Given the description of an element on the screen output the (x, y) to click on. 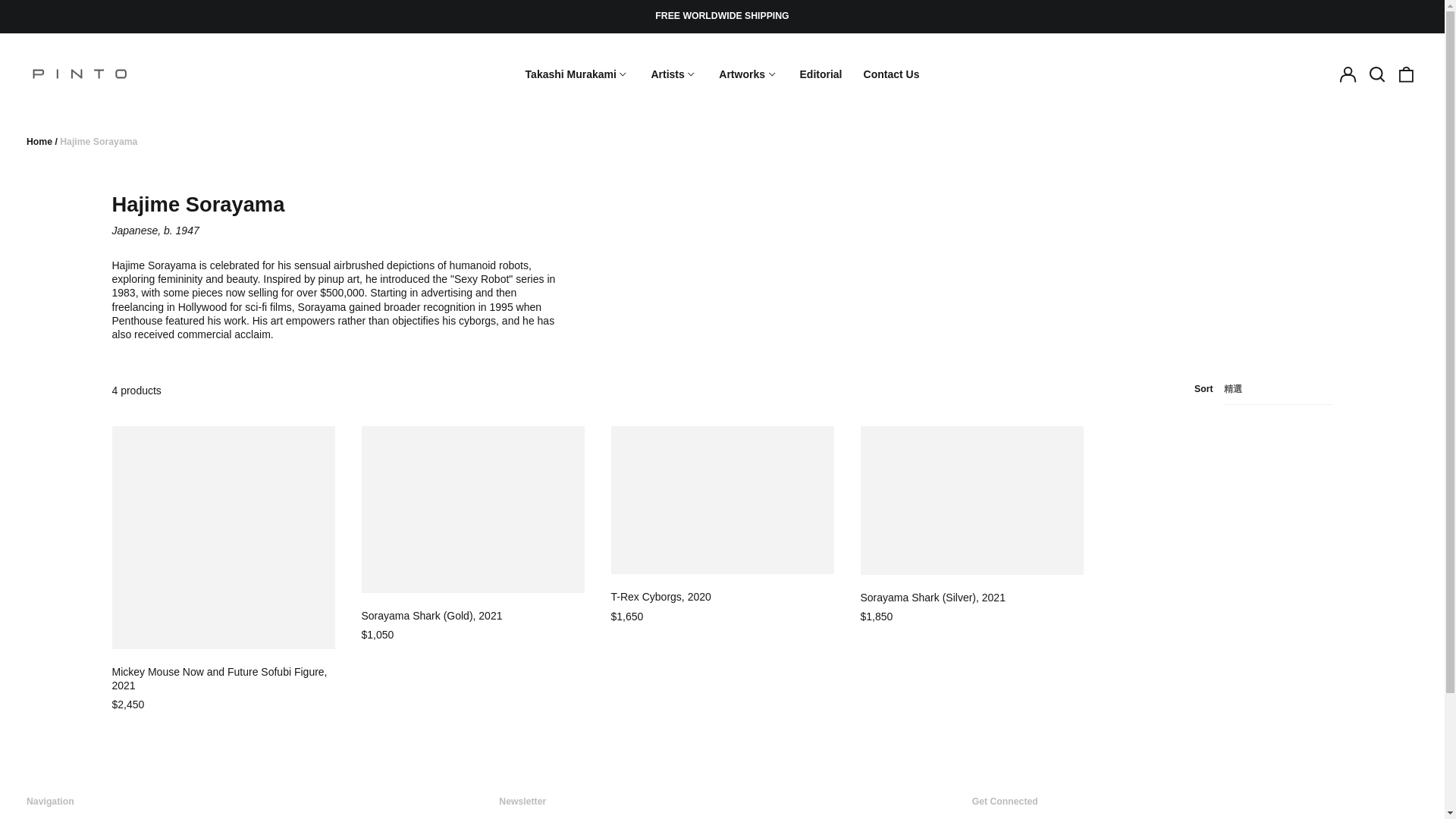
Home (39, 141)
